Given the description of an element on the screen output the (x, y) to click on. 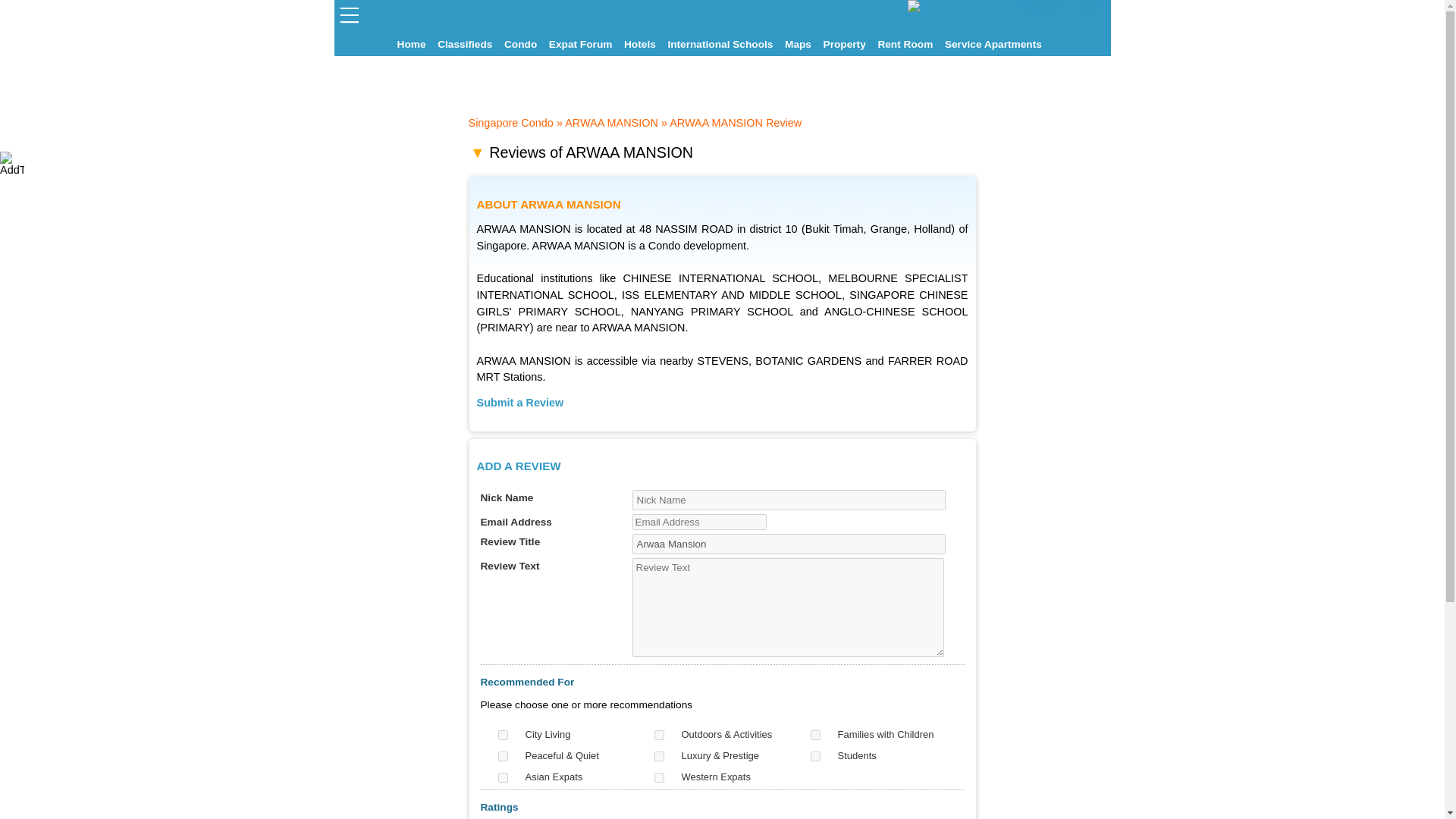
Singapore Classified Ads (467, 43)
Classifieds (467, 43)
Home (414, 43)
Arwaa Mansion (788, 543)
6 (814, 756)
Home (414, 43)
Singapore Hotel Booking (642, 43)
Property (848, 43)
Singapore Expats (414, 43)
Singapore Maps (800, 43)
2 (658, 735)
5 (658, 756)
Singapore Expats Forum (582, 43)
Property (848, 43)
Singapore Service Apartments (996, 43)
